Given the description of an element on the screen output the (x, y) to click on. 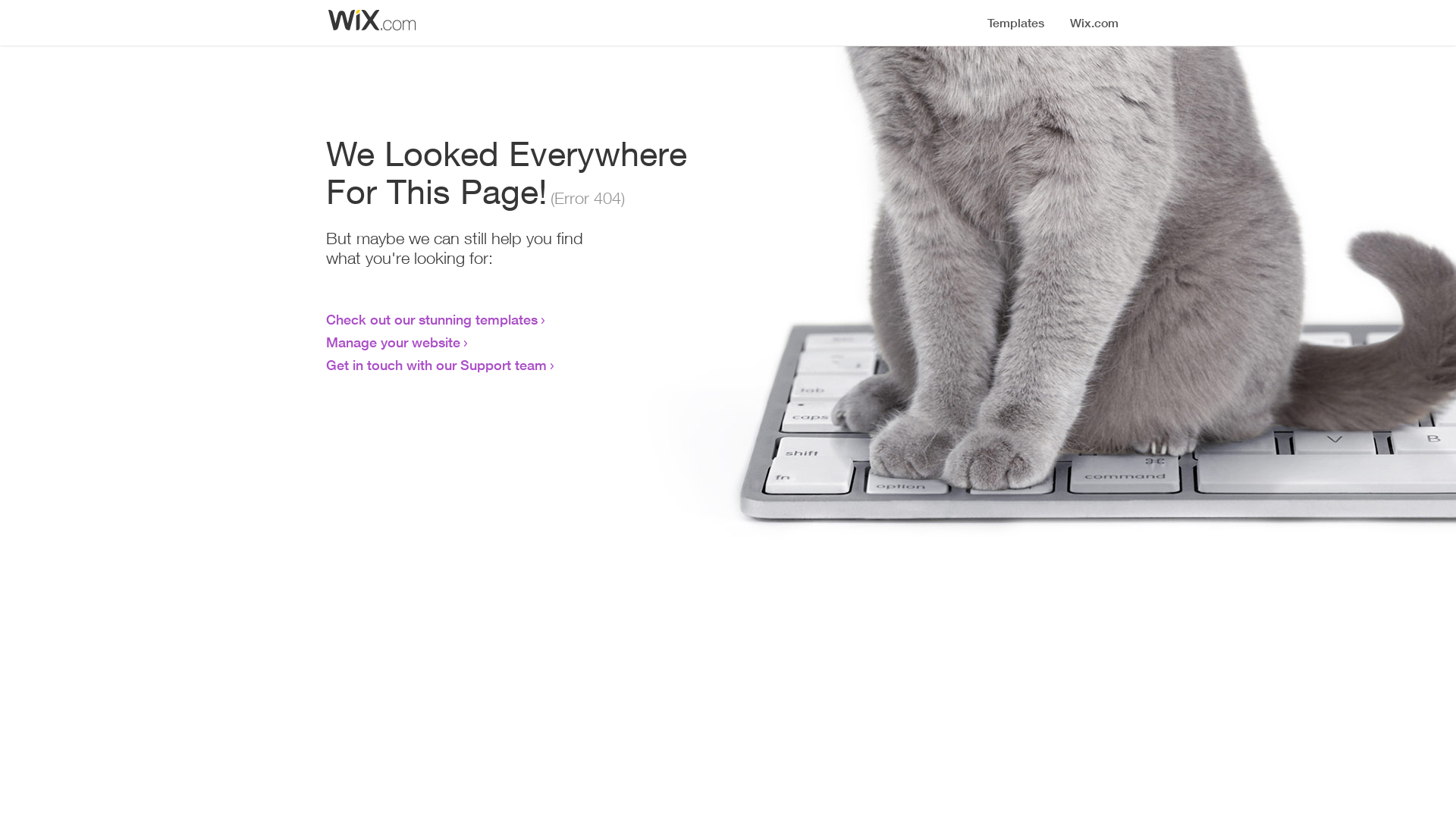
Get in touch with our Support team Element type: text (436, 364)
Check out our stunning templates Element type: text (431, 318)
Manage your website Element type: text (393, 341)
